Given the description of an element on the screen output the (x, y) to click on. 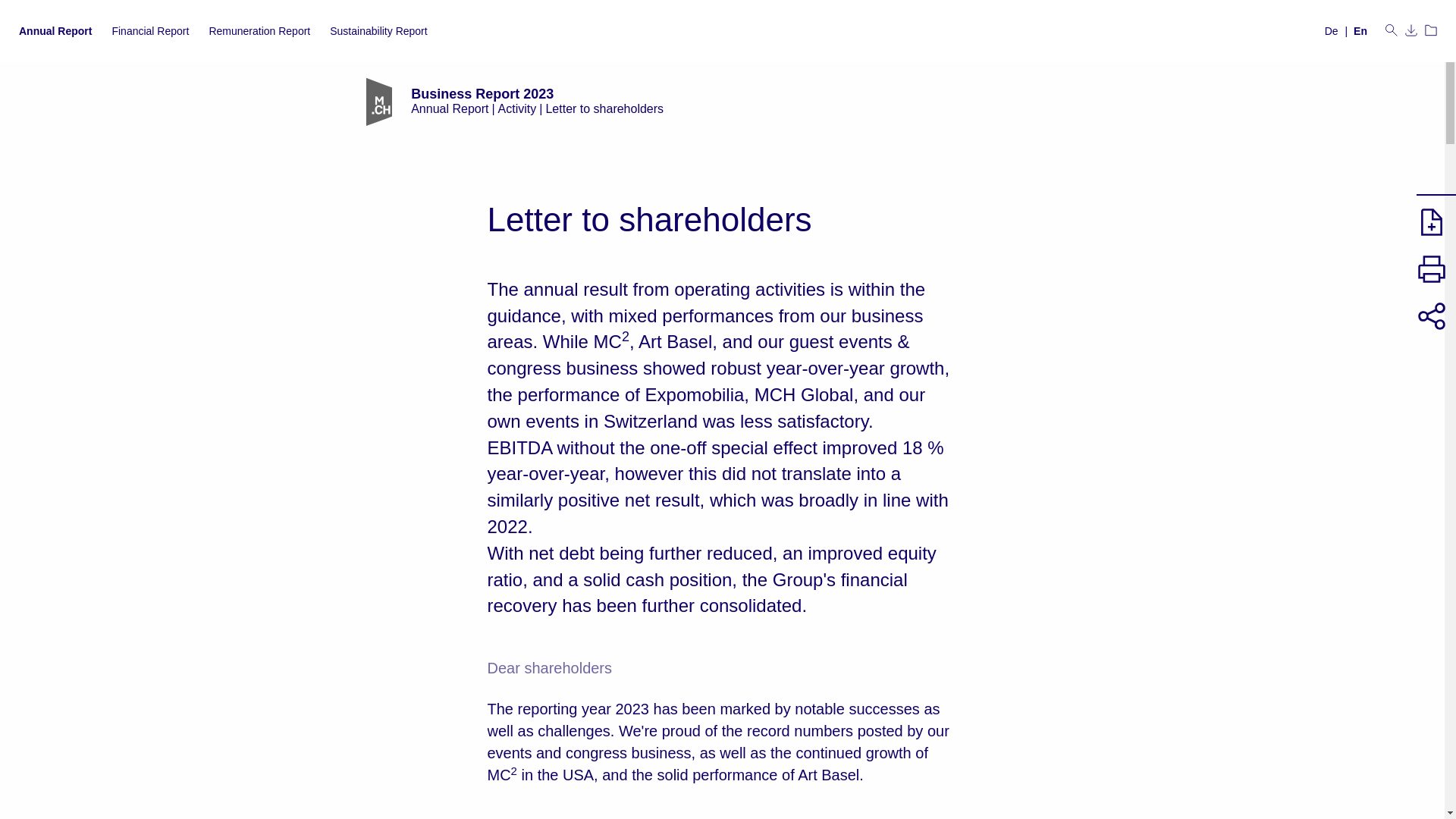
Financial Report (150, 30)
Annual Report (54, 30)
